Given the description of an element on the screen output the (x, y) to click on. 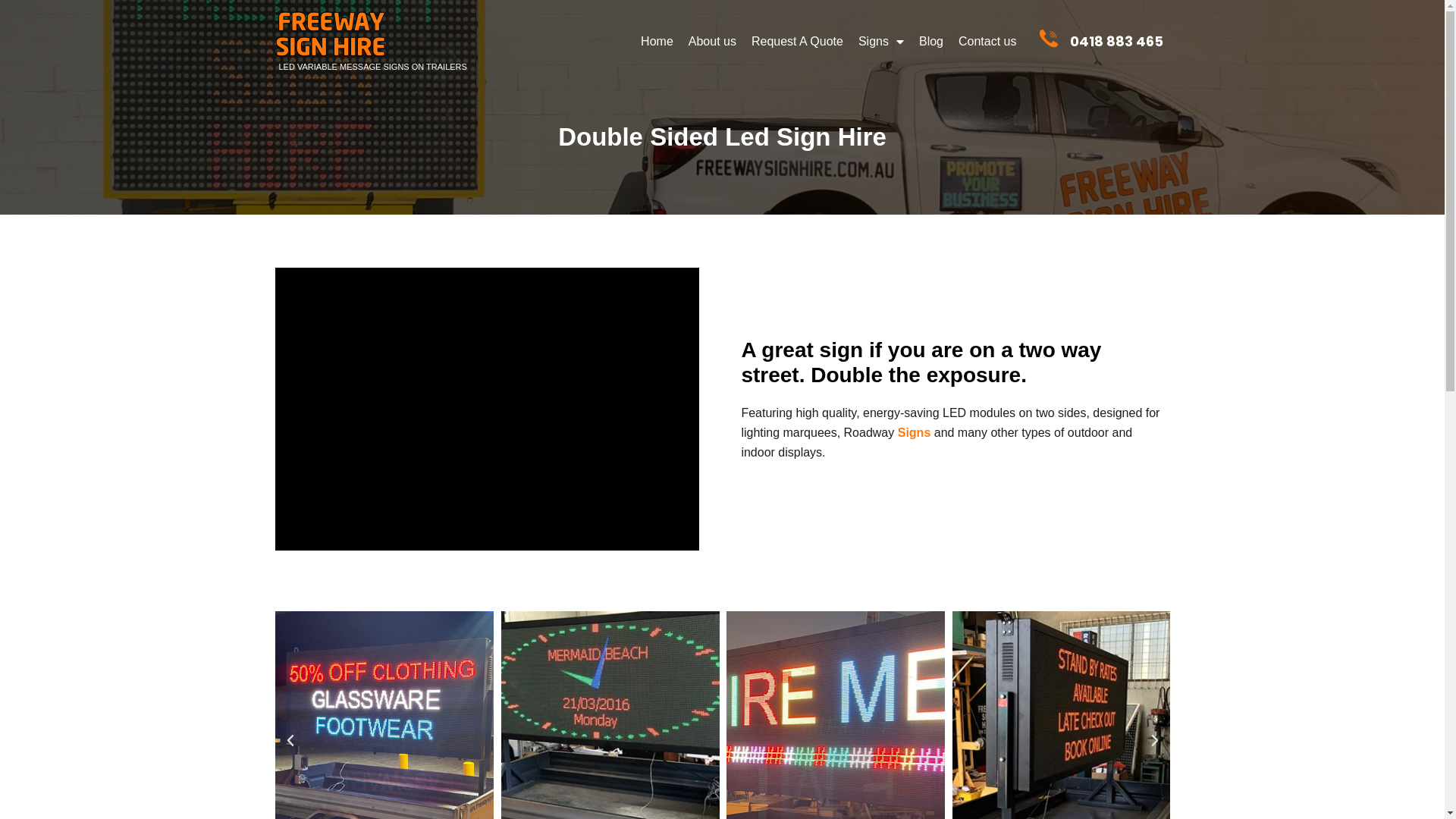
Contact us Element type: text (986, 40)
Blog Element type: text (930, 40)
Home Element type: text (656, 40)
0418 883 465 Element type: text (1116, 40)
Signs Element type: text (914, 432)
Signs Element type: text (880, 40)
About us Element type: text (711, 40)
Request A Quote Element type: text (796, 40)
vimeo Video Player Element type: hover (486, 408)
